Given the description of an element on the screen output the (x, y) to click on. 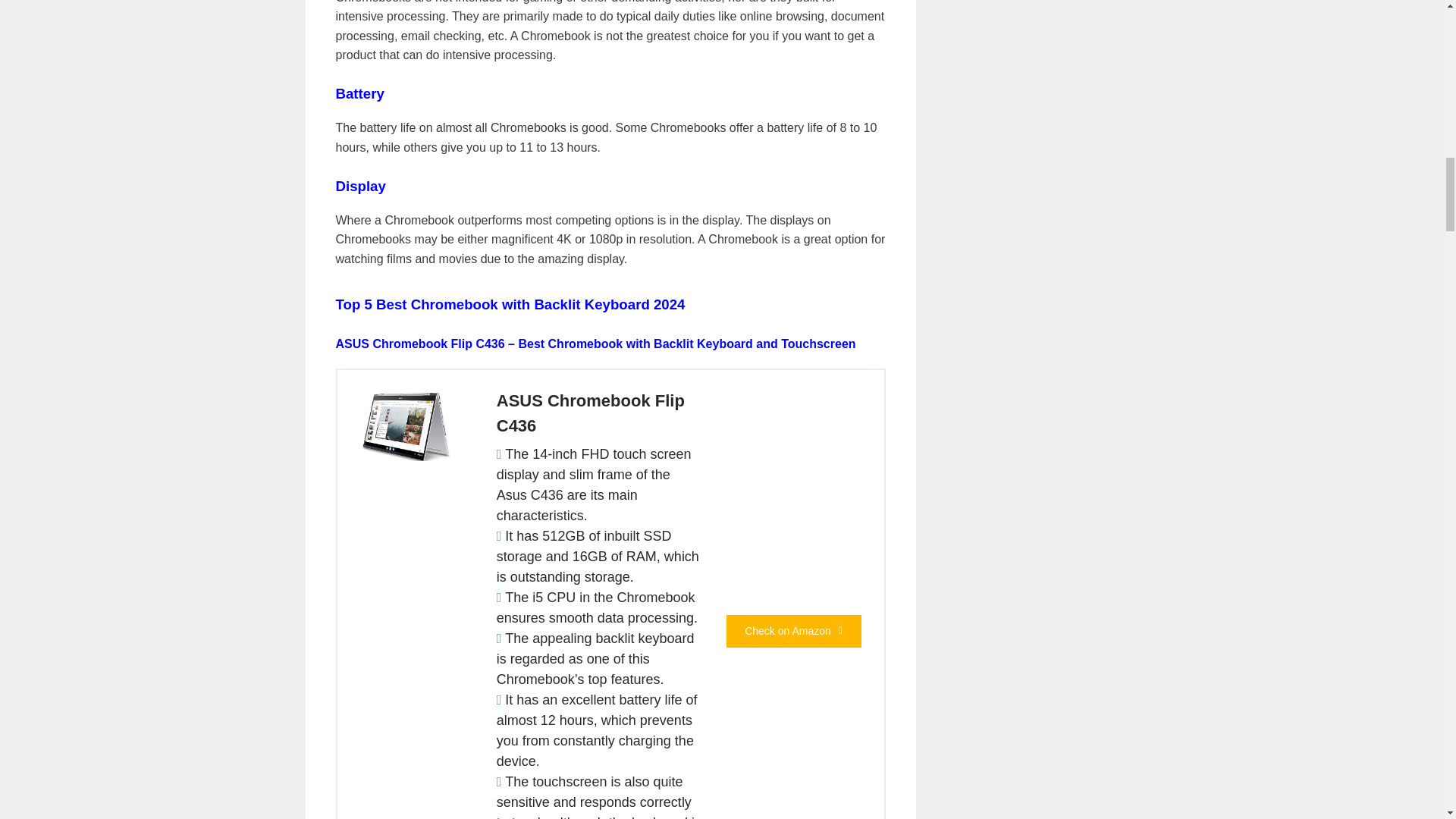
Check on Amazon (793, 631)
